Given the description of an element on the screen output the (x, y) to click on. 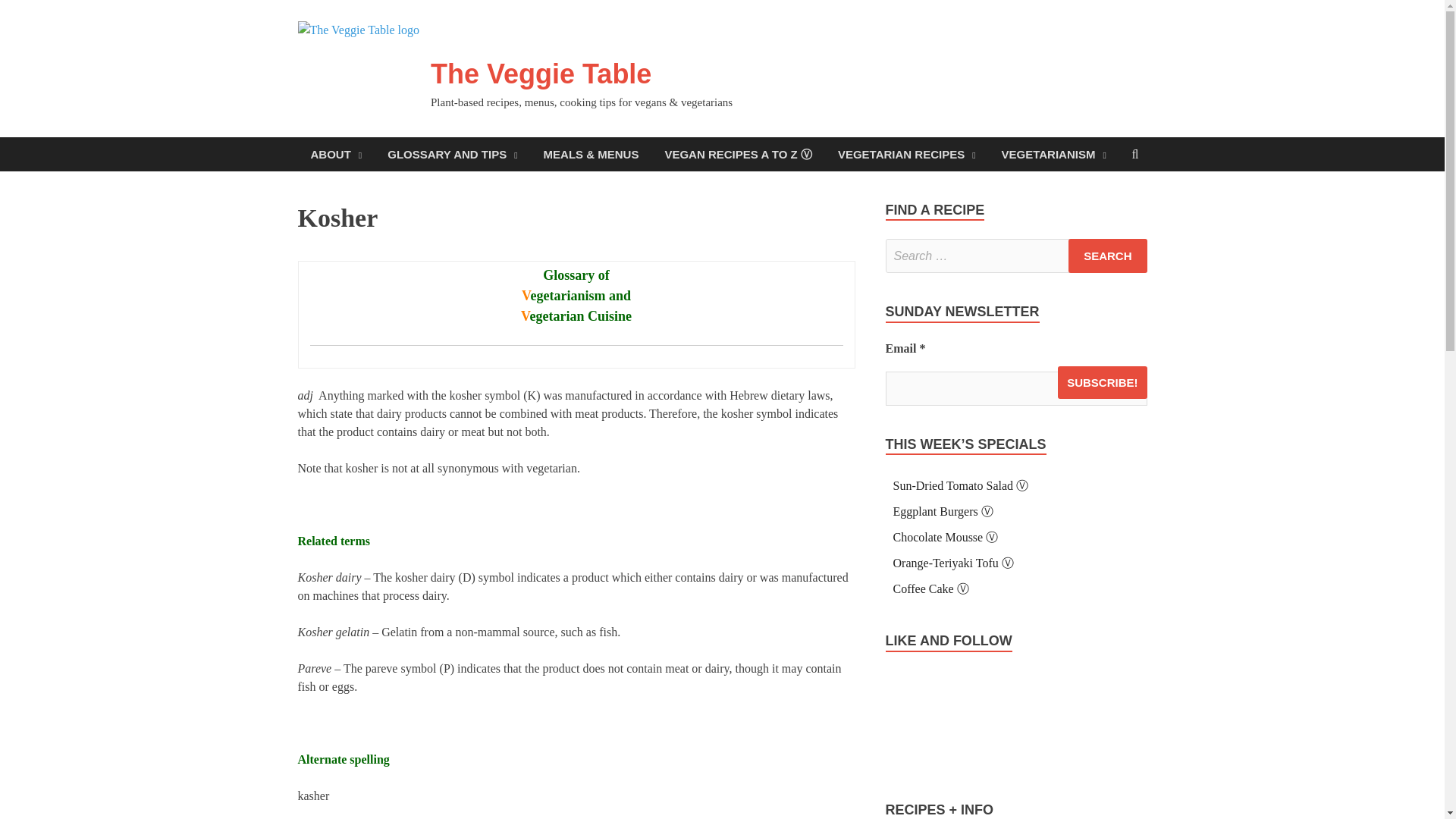
Email (1016, 388)
VEGETARIAN RECIPES (906, 154)
ABOUT (335, 154)
VEGETARIANISM (1053, 154)
Search (1107, 255)
Subscribe! (1102, 382)
Search (1107, 255)
The Veggie Table (540, 73)
GLOSSARY AND TIPS (451, 154)
